Given the description of an element on the screen output the (x, y) to click on. 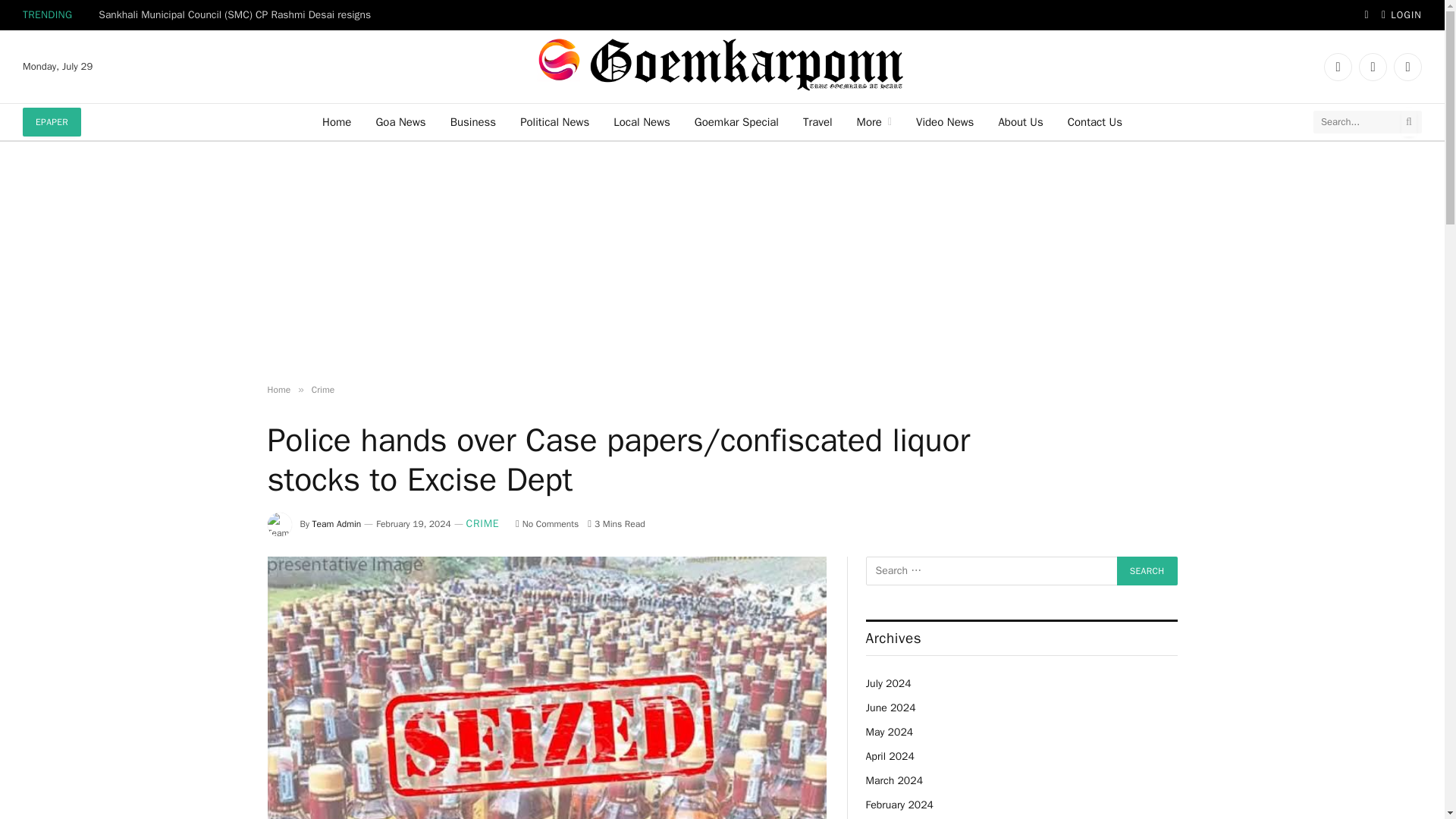
Home (336, 122)
Instagram (1407, 67)
About Us (1019, 122)
Switch to Dark Design - easier on eyes. (1366, 14)
More (874, 122)
Local News (641, 122)
Goa News (400, 122)
Search (1146, 570)
Search (1146, 570)
Political News (554, 122)
Business (473, 122)
EPAPER (52, 121)
Posts by Team Admin (337, 523)
LOGIN (1401, 15)
Goemkar Special (736, 122)
